Given the description of an element on the screen output the (x, y) to click on. 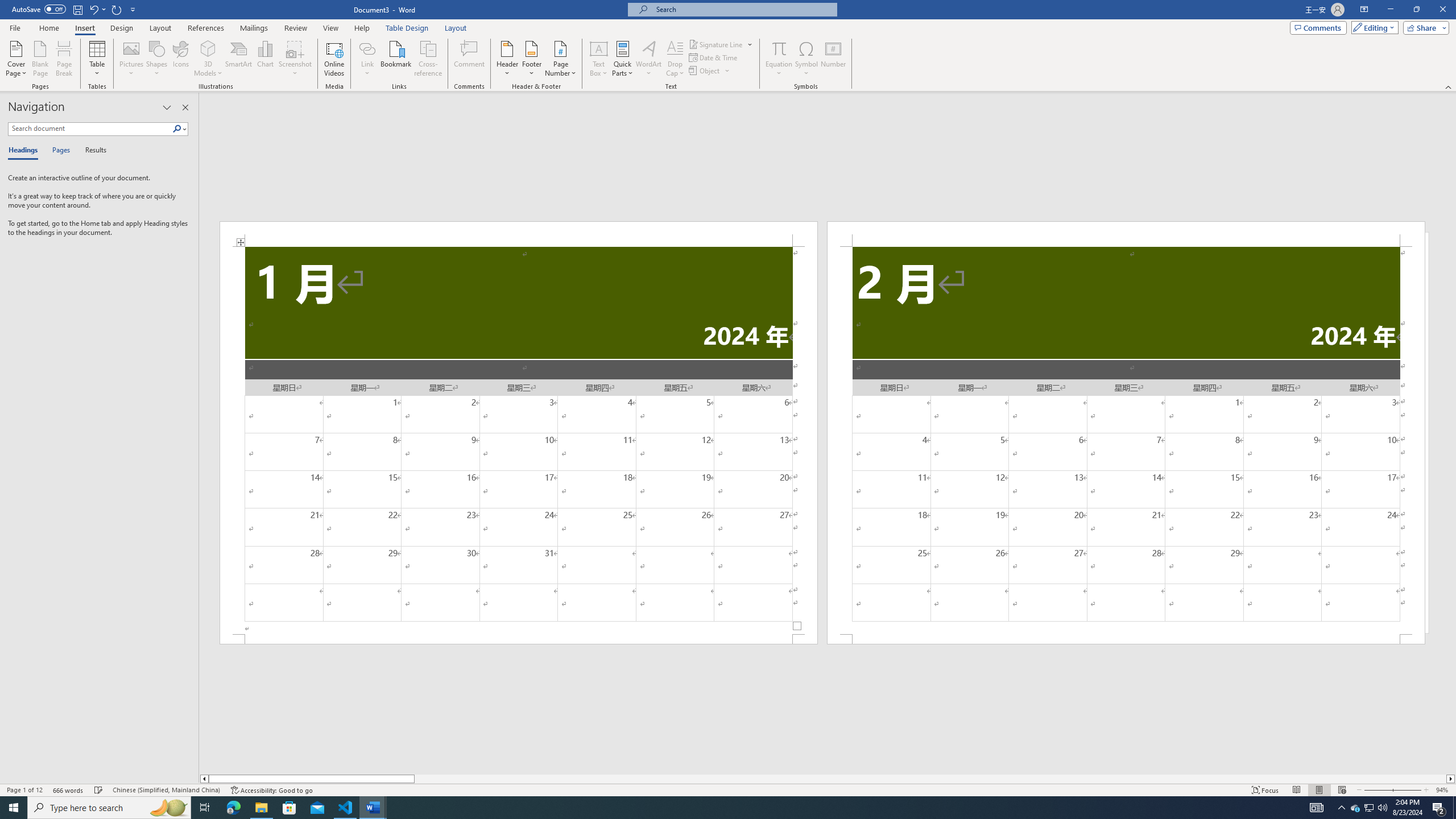
Table (97, 58)
View (330, 28)
Header (507, 58)
Column right (1450, 778)
Footer (531, 58)
Customize Quick Access Toolbar (133, 9)
Symbol (806, 58)
Link (367, 48)
Text Box (598, 58)
Chart... (265, 58)
Design (122, 28)
Language Chinese (Simplified, Mainland China) (165, 790)
